Given the description of an element on the screen output the (x, y) to click on. 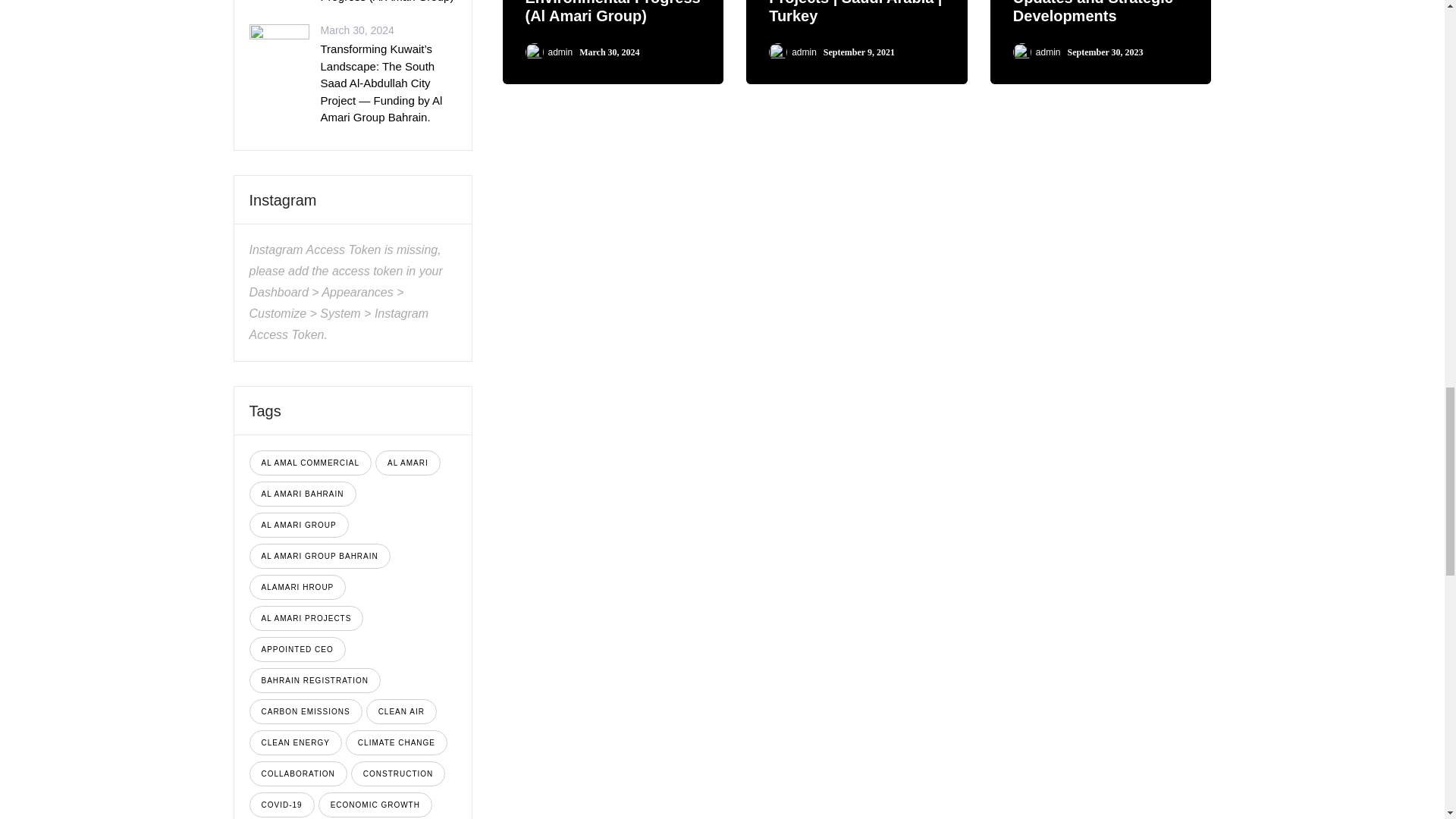
AL AMARI GROUP (297, 524)
ALAMARI HROUP (297, 586)
Posts by admin (1048, 51)
AL AMARI (408, 462)
Posts by admin (559, 51)
AL AMARI GROUP BAHRAIN (319, 555)
AL AMAL COMMERCIAL (309, 462)
AL AMARI BAHRAIN (301, 493)
Posts by admin (804, 51)
